Given the description of an element on the screen output the (x, y) to click on. 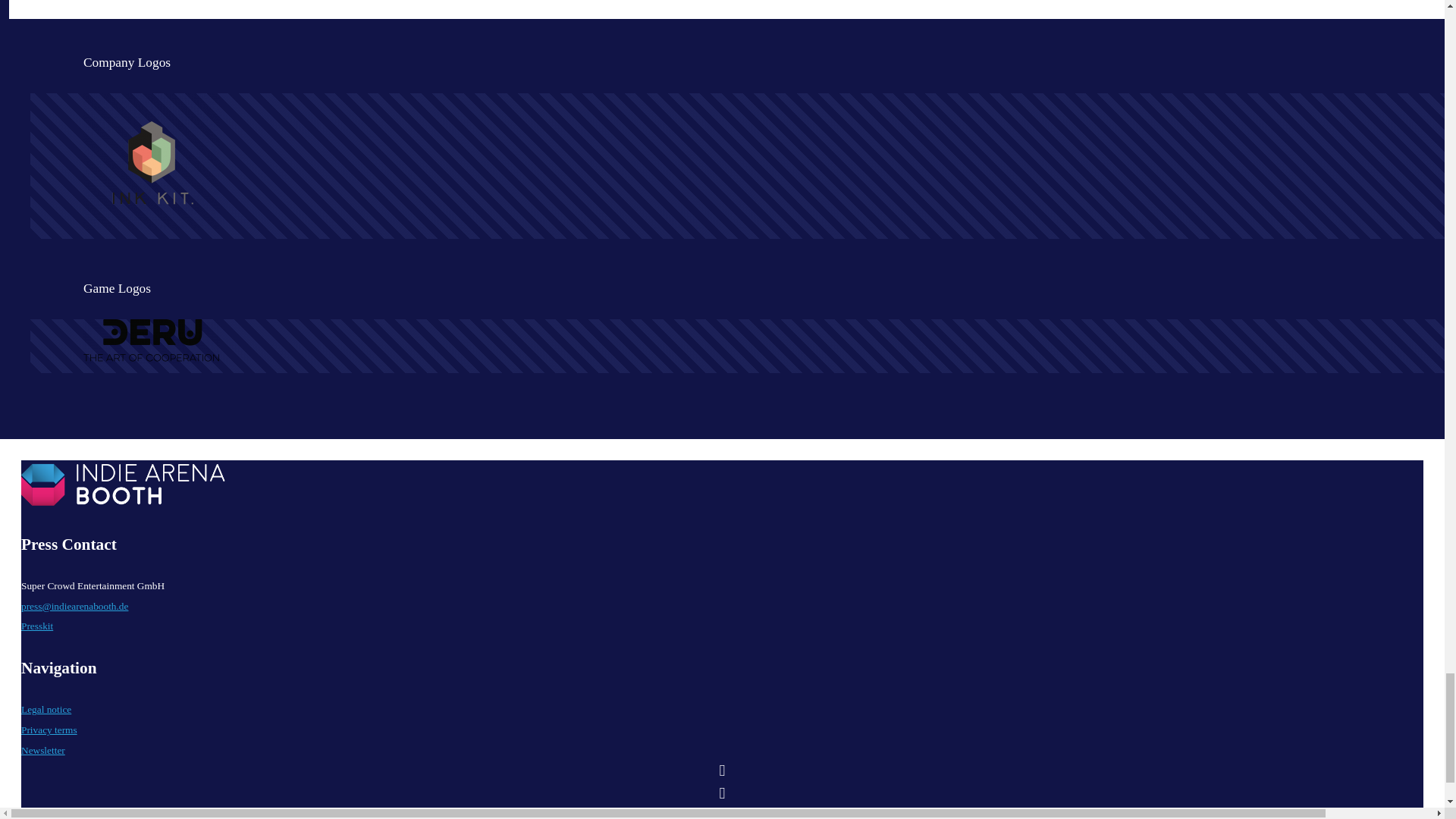
Presskit (36, 625)
Legal notice (46, 708)
Privacy terms (49, 729)
